Given the description of an element on the screen output the (x, y) to click on. 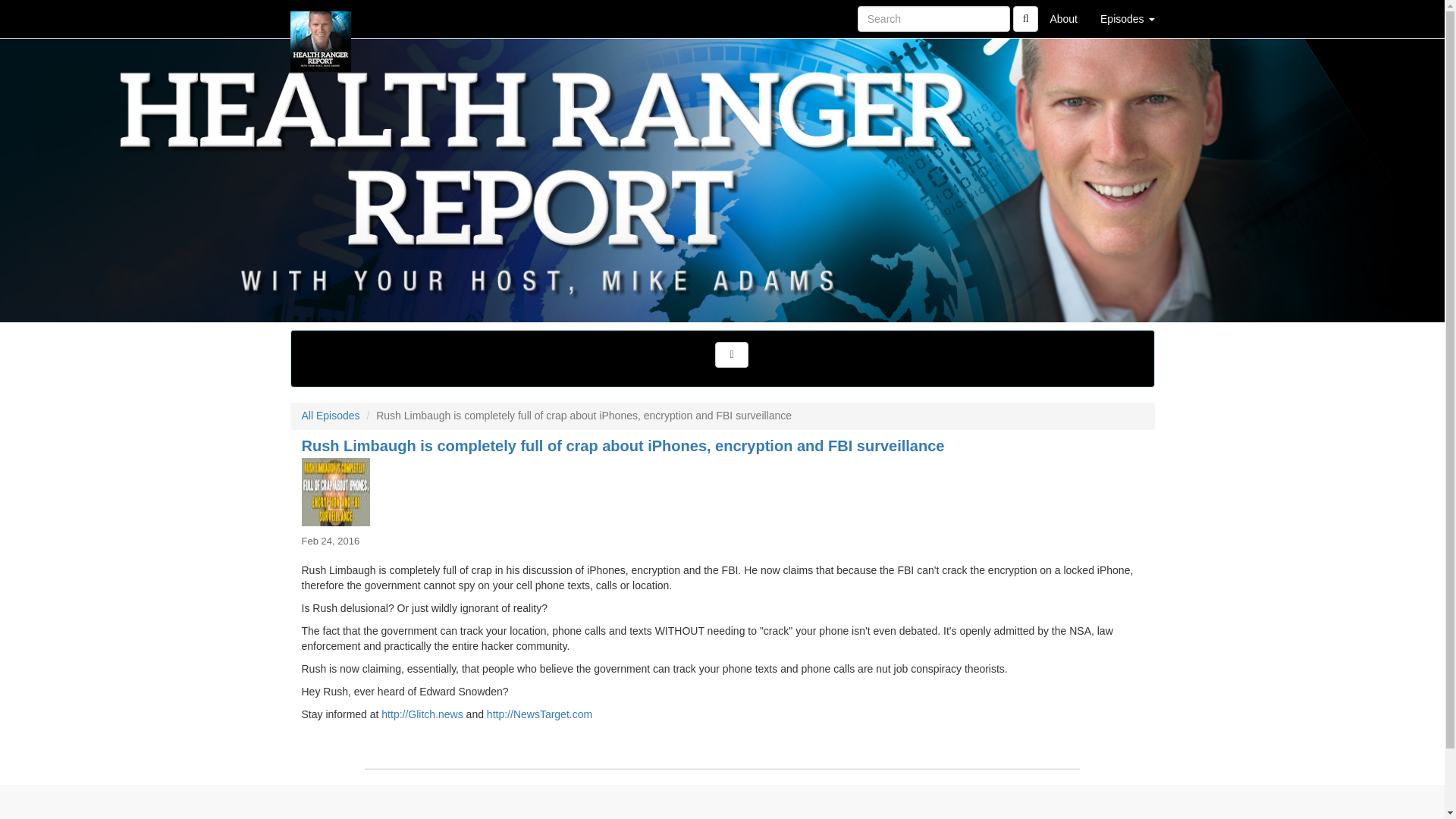
About (1063, 18)
Episodes (1127, 18)
Home Page (320, 18)
